Given the description of an element on the screen output the (x, y) to click on. 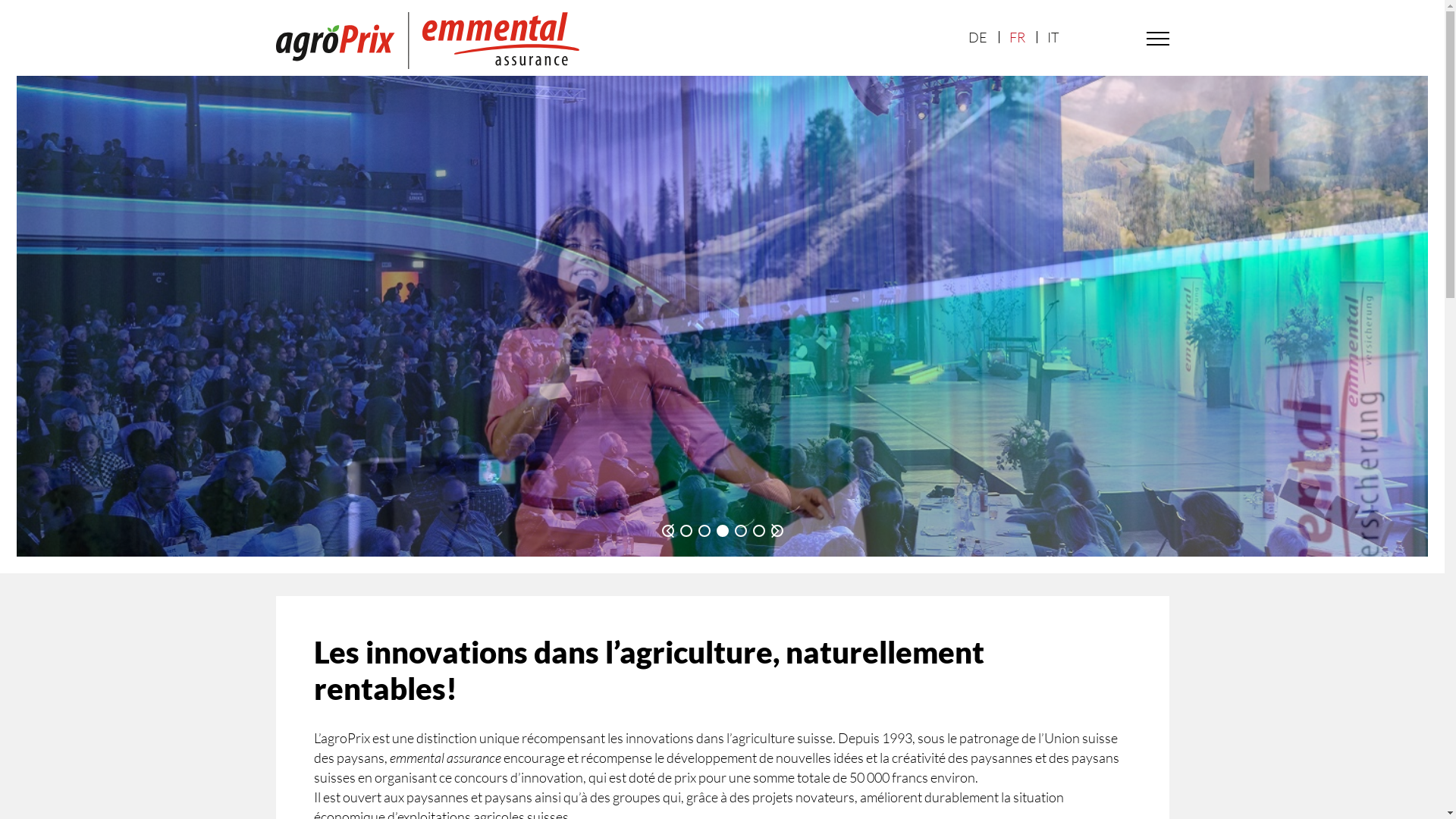
Previous Element type: text (669, 530)
3 Element type: text (703, 530)
5 Element type: text (740, 530)
IT Element type: text (1052, 37)
2 Element type: text (685, 530)
FR Element type: text (1016, 37)
7 Element type: text (776, 530)
4 Element type: text (721, 530)
1 Element type: text (667, 530)
Next Element type: text (773, 530)
DE Element type: text (977, 37)
6 Element type: text (758, 530)
